Given the description of an element on the screen output the (x, y) to click on. 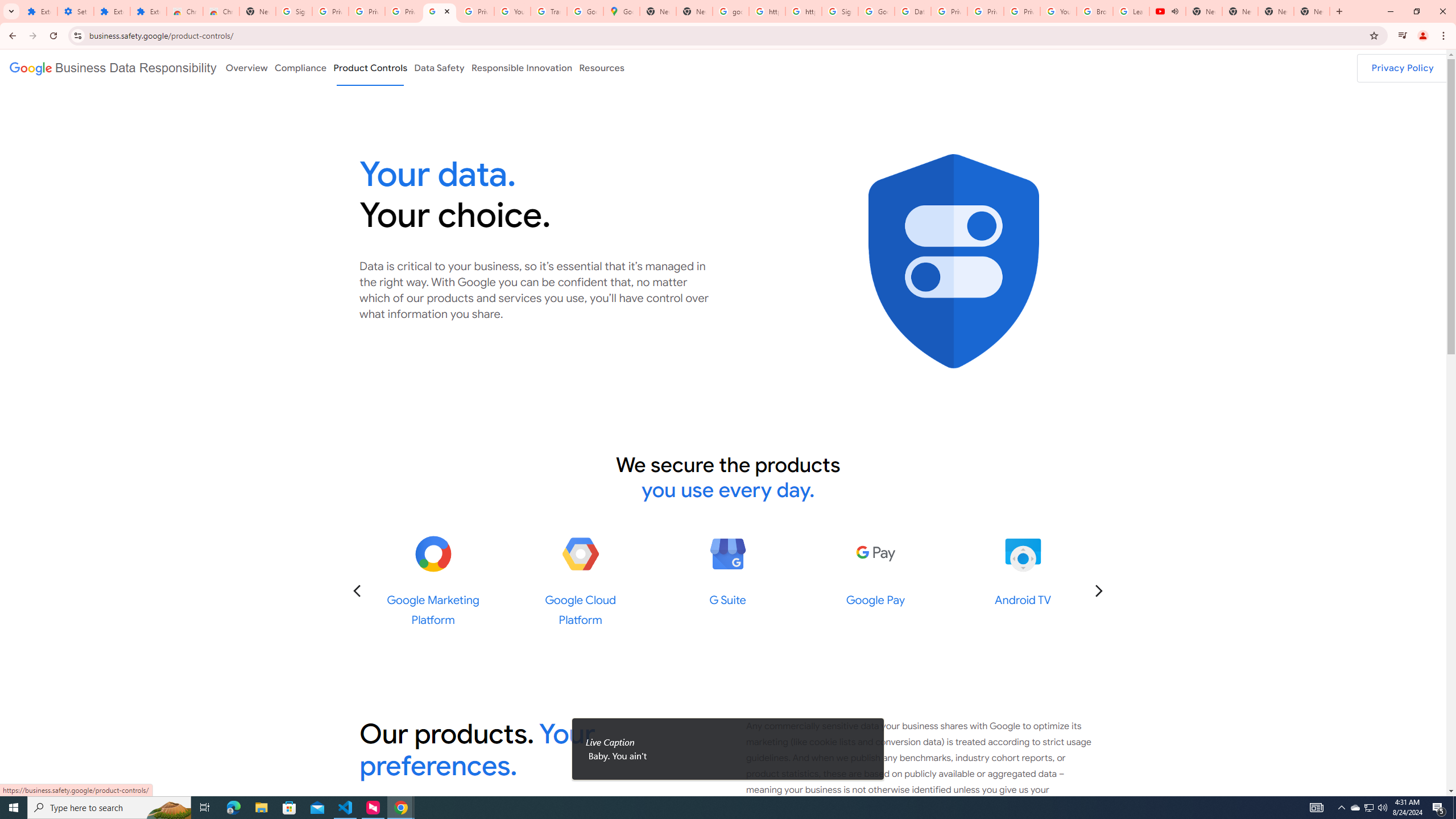
YouTube (512, 11)
Google logo (112, 67)
Go to the next slide (1098, 590)
Overview (245, 67)
Compliance (300, 67)
New Tab (1311, 11)
Google Maps (621, 11)
